Given the description of an element on the screen output the (x, y) to click on. 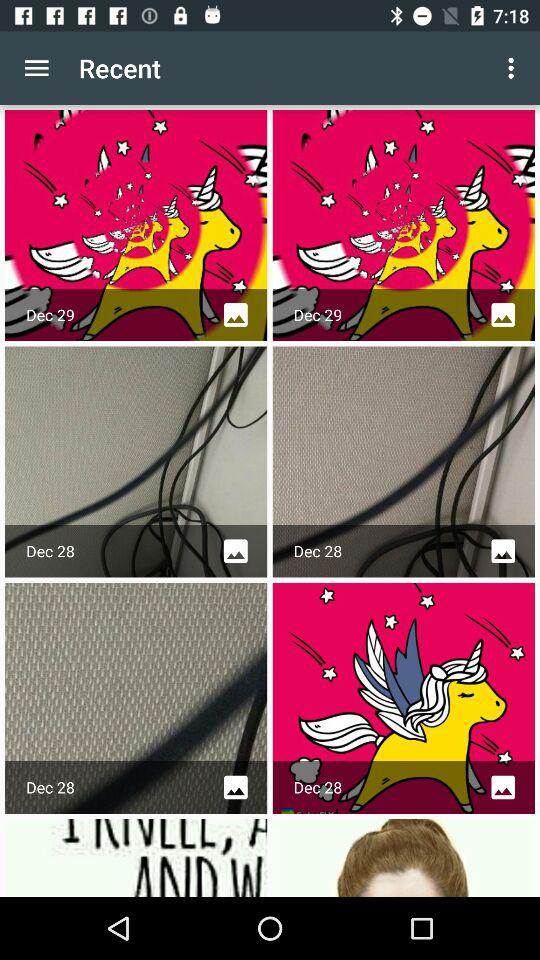
tap app next to the recent item (513, 67)
